Given the description of an element on the screen output the (x, y) to click on. 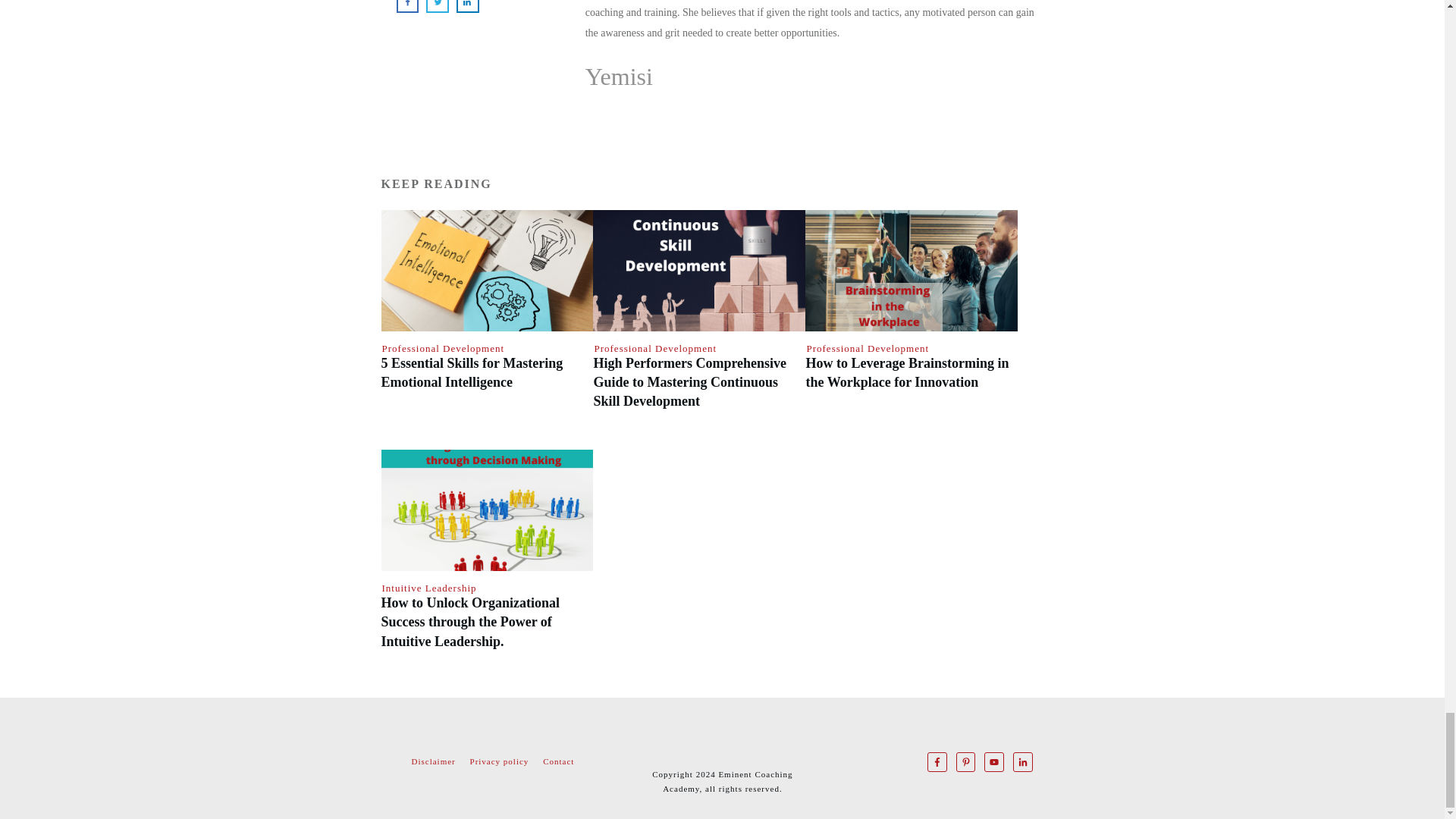
Professional Development (655, 348)
5 Essential Skills for Mastering Emotional Intelligence (471, 372)
Professional Development (443, 348)
Intuitive Leadership (429, 587)
Professional Development (867, 348)
